Given the description of an element on the screen output the (x, y) to click on. 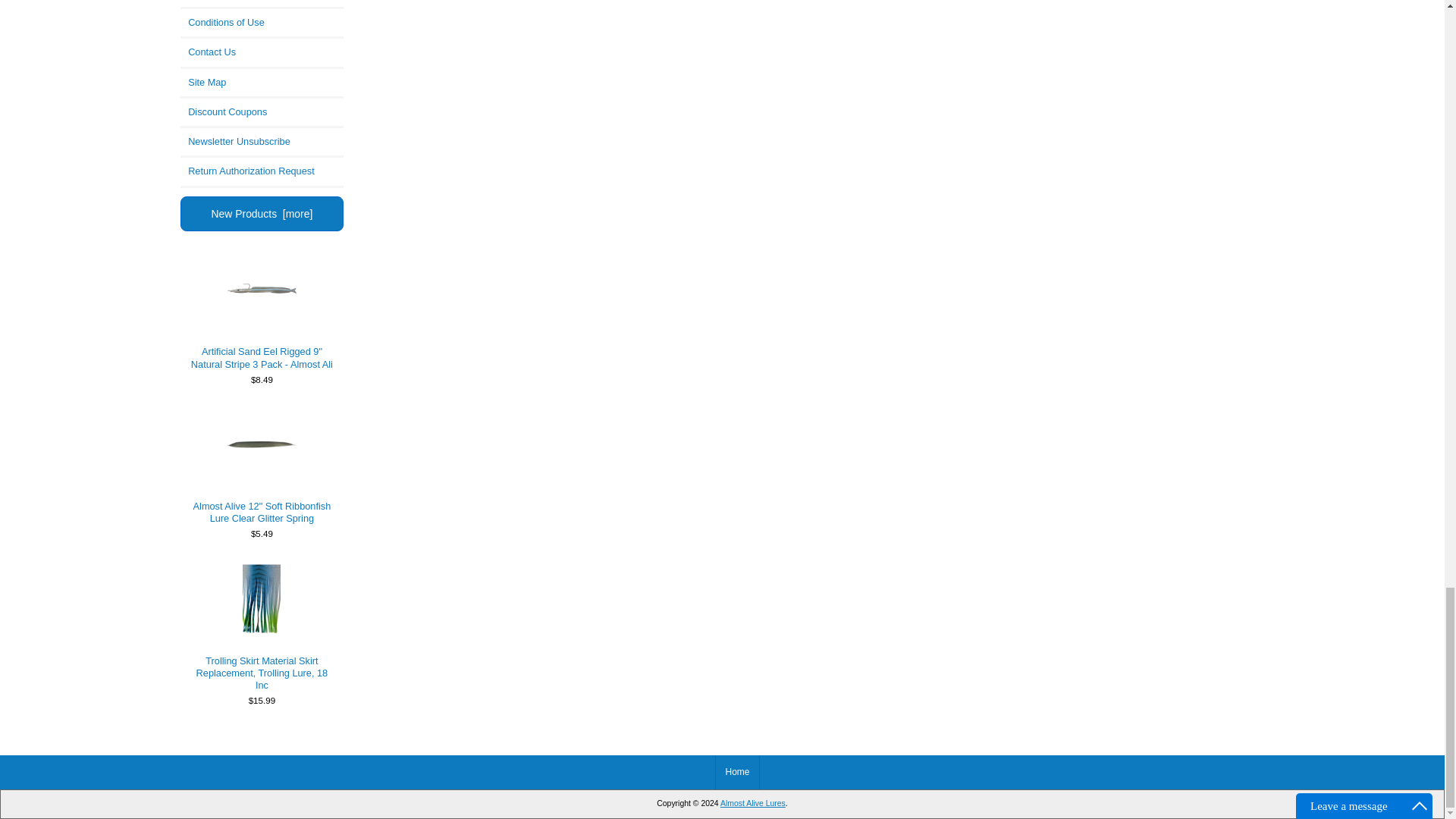
 Almost Alive 12" Soft Ribbonfish Lure Clear Glitter Spring  (261, 444)
